Given the description of an element on the screen output the (x, y) to click on. 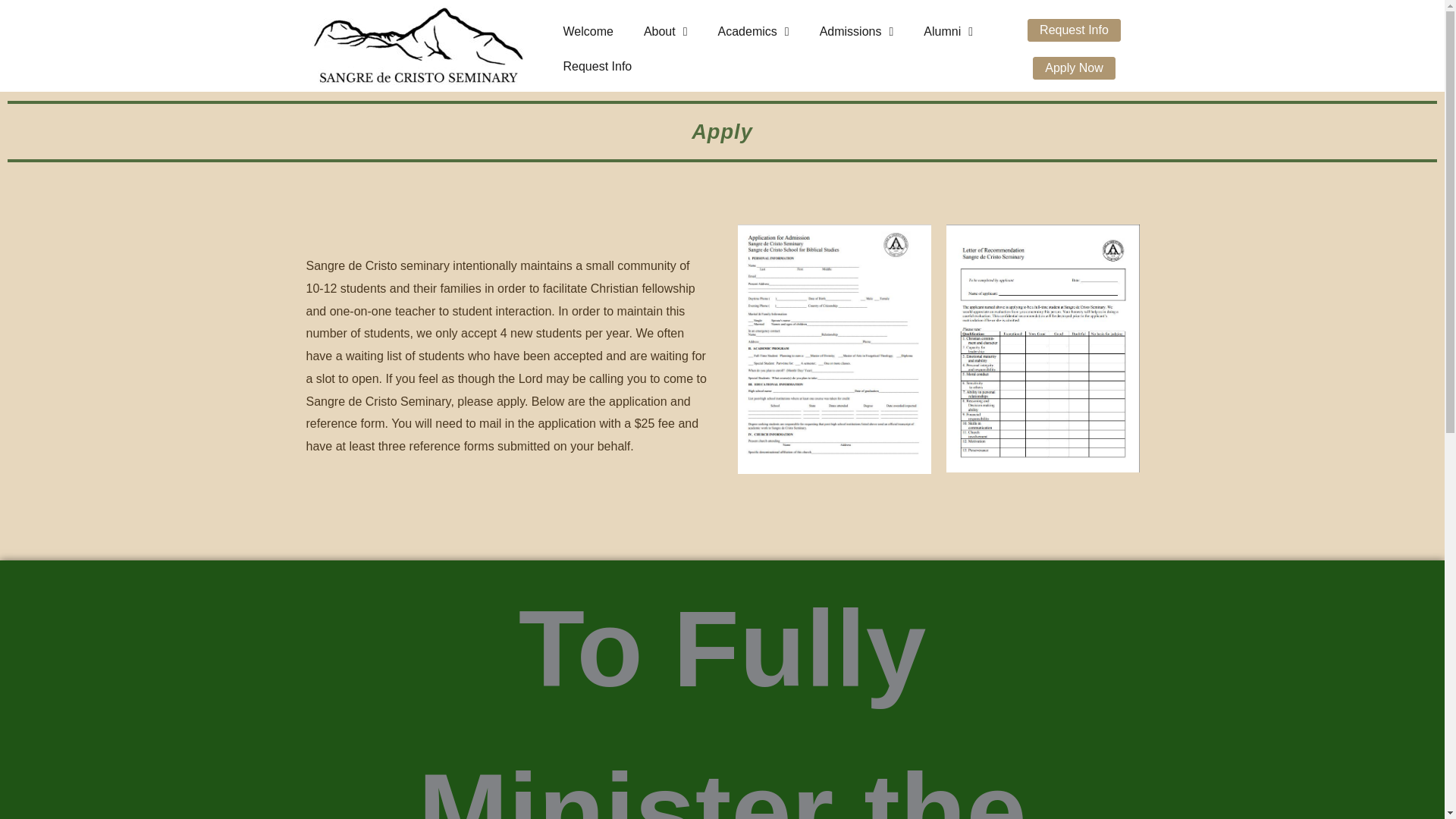
Academics (754, 31)
Request Info (596, 66)
Alumni (948, 31)
Admissions (856, 31)
About (665, 31)
Welcome (587, 31)
